Given the description of an element on the screen output the (x, y) to click on. 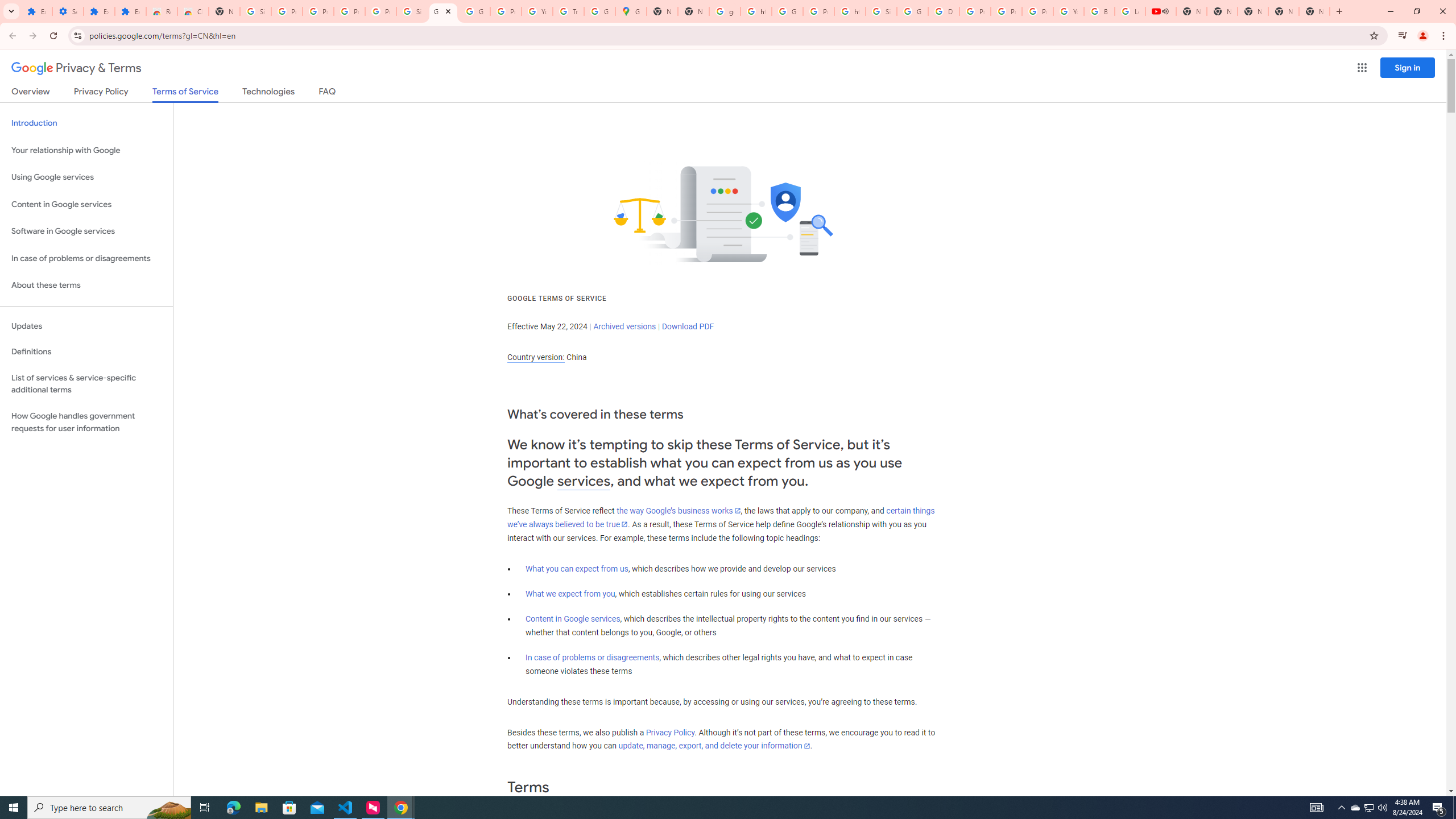
Technologies (268, 93)
Introduction (86, 122)
Mute tab (1165, 10)
Google Maps (631, 11)
Country version: (535, 357)
Sign in - Google Accounts (411, 11)
